Given the description of an element on the screen output the (x, y) to click on. 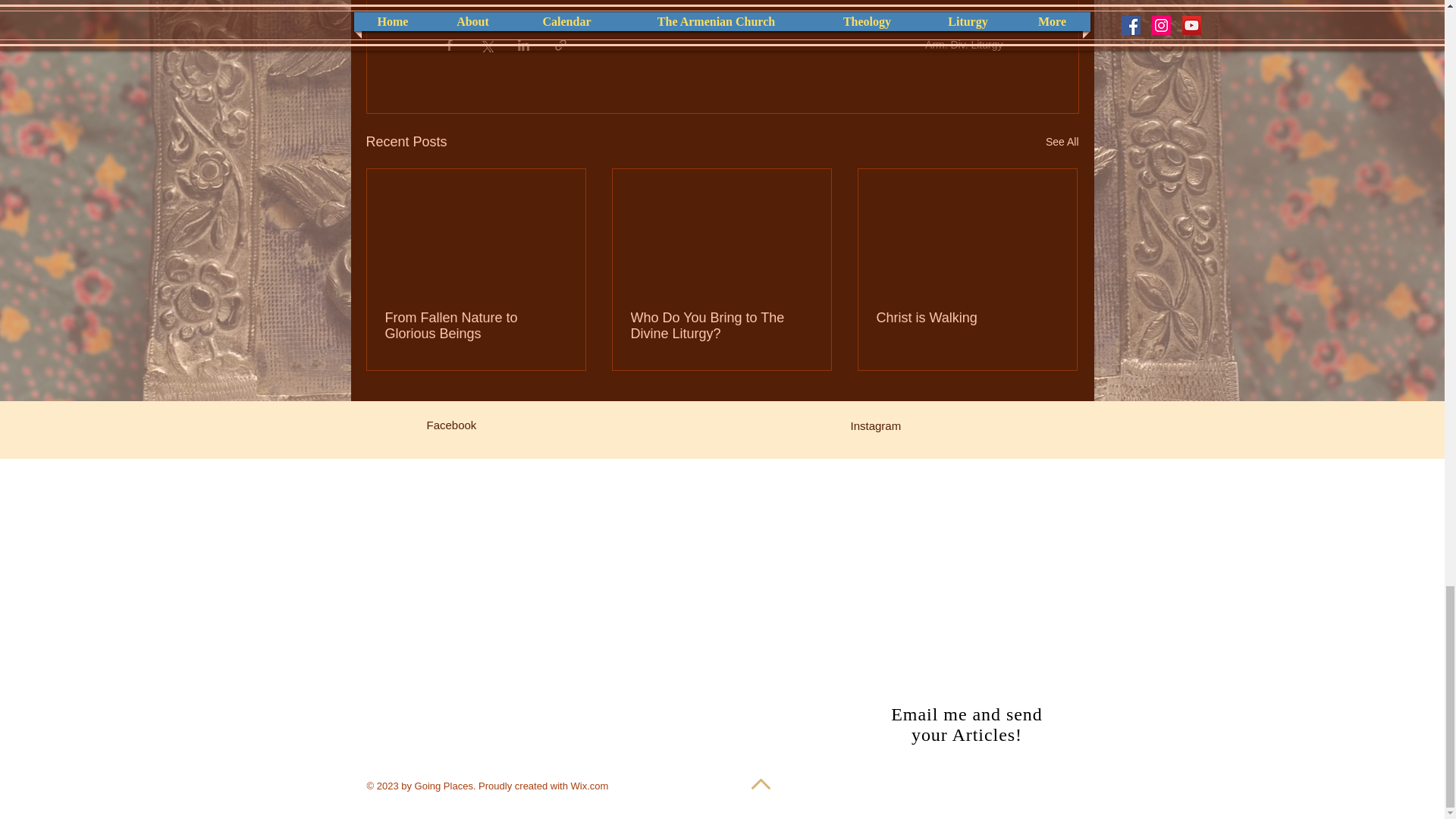
Wix.com (589, 785)
Who Do You Bring to The Divine Liturgy? (721, 326)
From Fallen Nature to Glorious Beings (476, 326)
Christ is Walking (967, 317)
Facebook (451, 424)
Instagram (875, 425)
See All (1061, 142)
Arm. Div. Liturgy (963, 44)
